Given the description of an element on the screen output the (x, y) to click on. 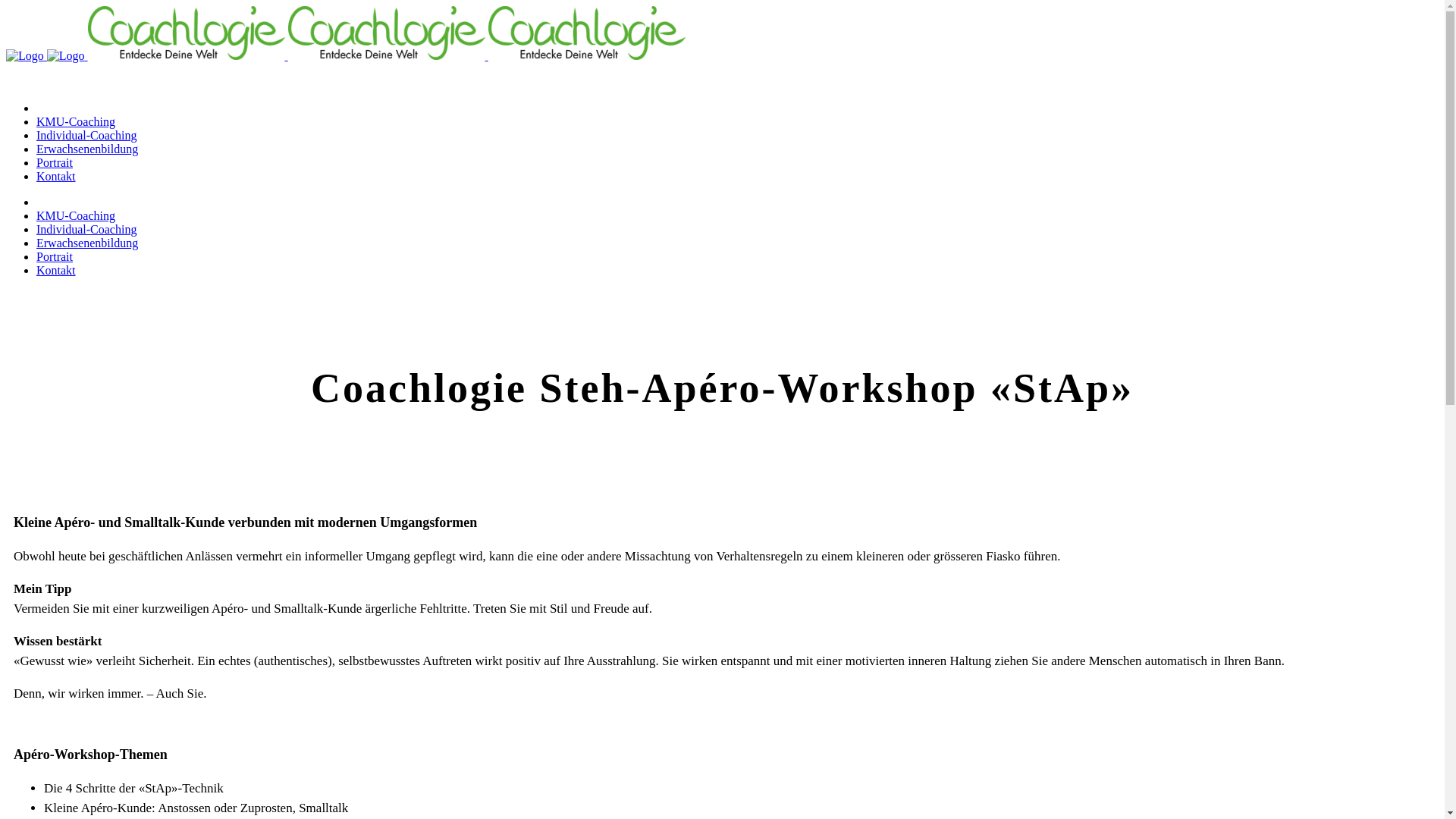
Portrait Element type: text (54, 256)
Portrait Element type: text (54, 162)
KMU-Coaching Element type: text (75, 215)
Individual-Coaching Element type: text (86, 228)
Erwachsenenbildung Element type: text (87, 148)
KMU-Coaching Element type: text (75, 121)
Kontakt Element type: text (55, 269)
Kontakt Element type: text (55, 175)
Erwachsenenbildung Element type: text (87, 242)
Individual-Coaching Element type: text (86, 134)
